Given the description of an element on the screen output the (x, y) to click on. 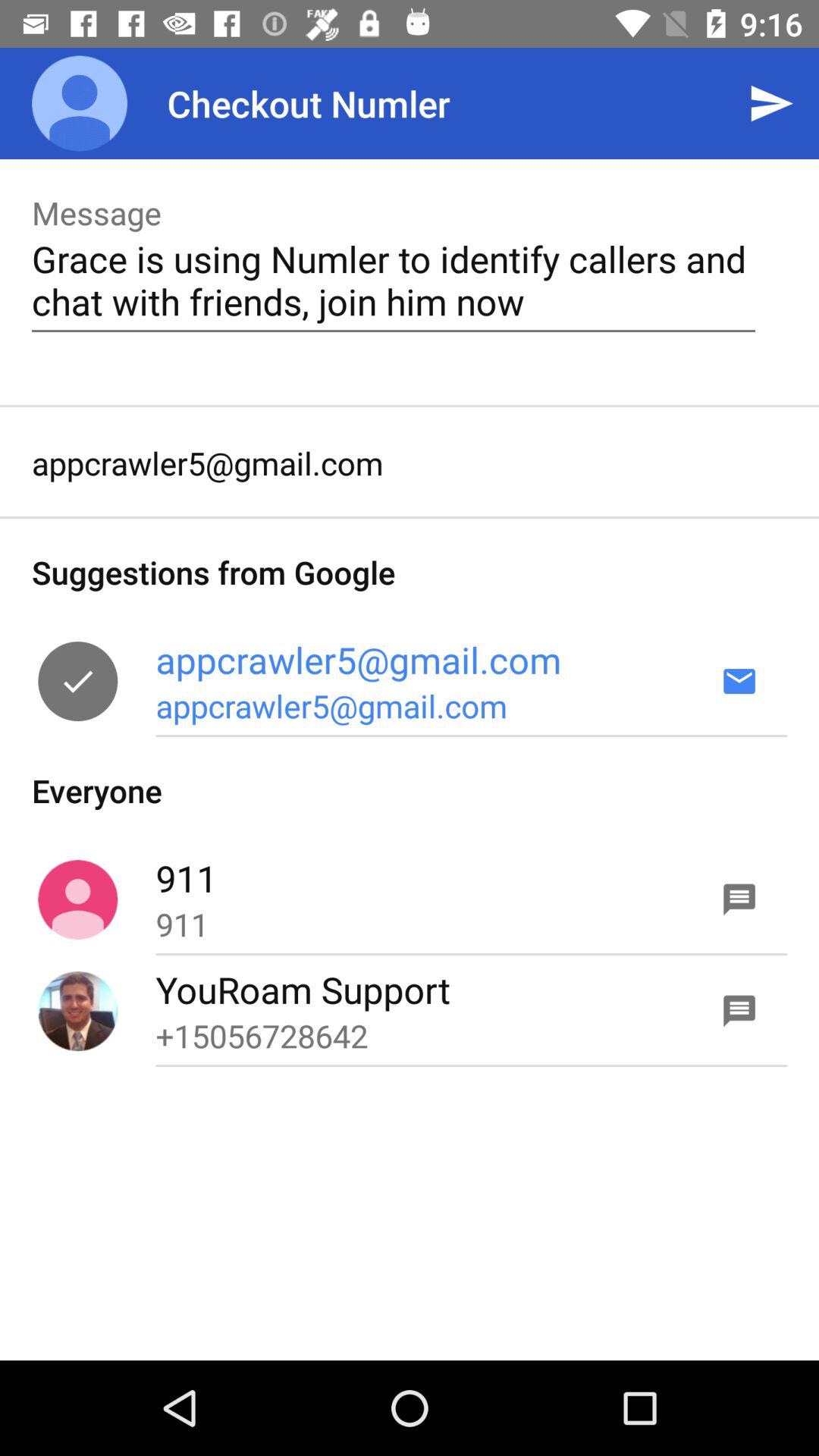
press icon above grace is using icon (771, 103)
